Given the description of an element on the screen output the (x, y) to click on. 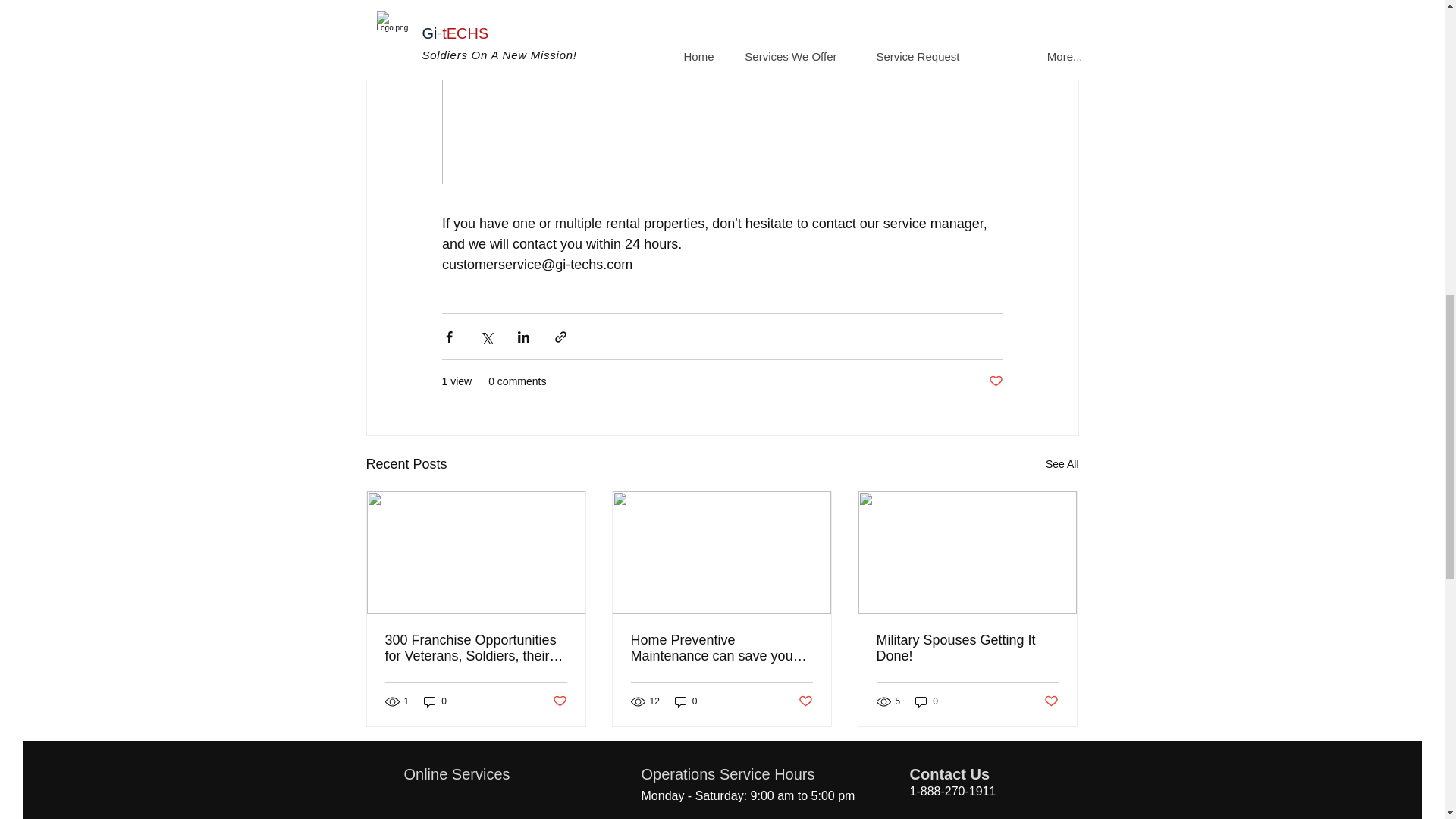
Military Spouses Getting It Done! (967, 648)
Post not marked as liked (1050, 701)
Post not marked as liked (558, 701)
See All (1061, 464)
0 (685, 701)
0 (926, 701)
Post not marked as liked (995, 381)
Post not marked as liked (804, 701)
0 (435, 701)
